Given the description of an element on the screen output the (x, y) to click on. 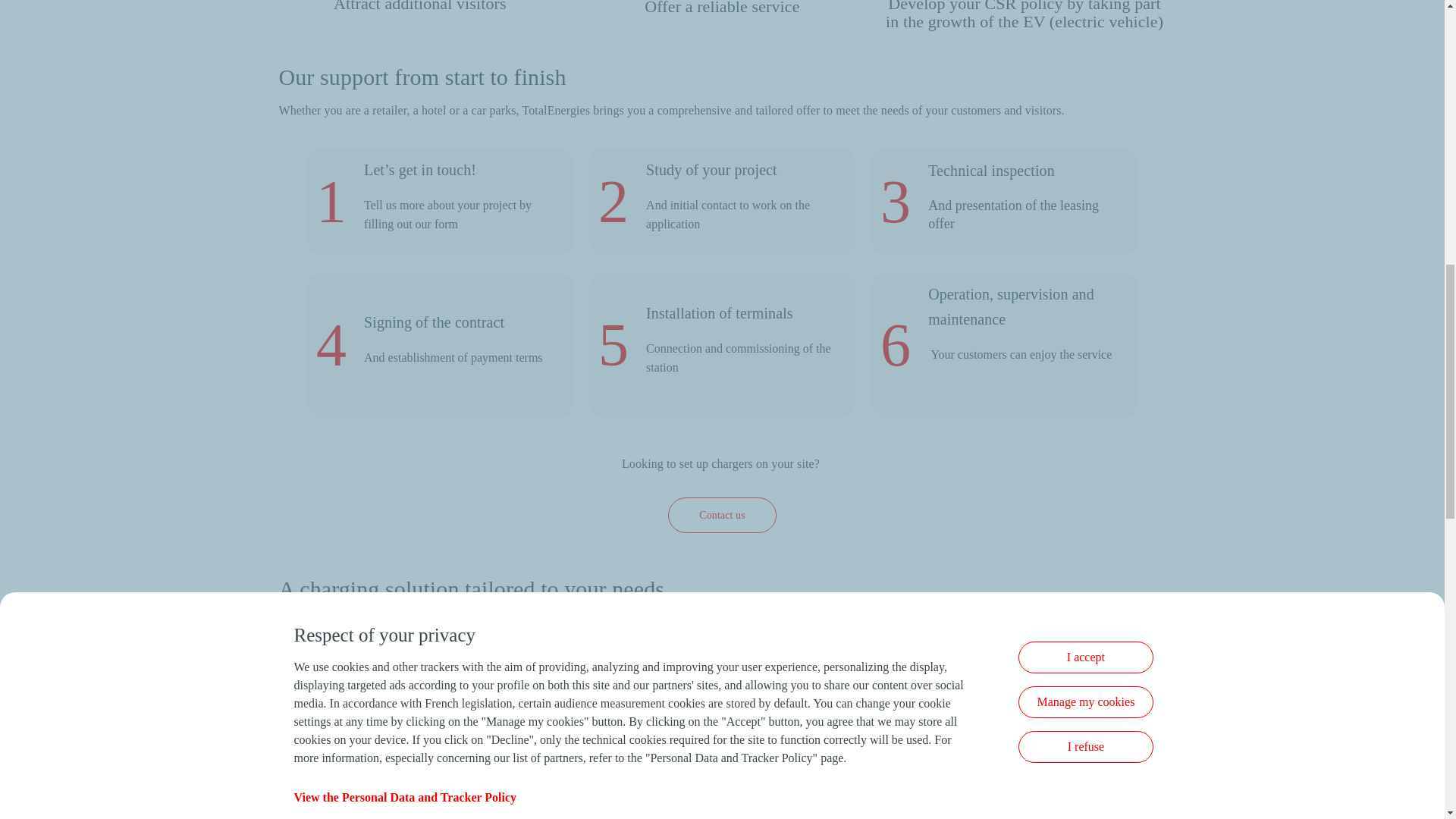
Contact us (411, 223)
